Given the description of an element on the screen output the (x, y) to click on. 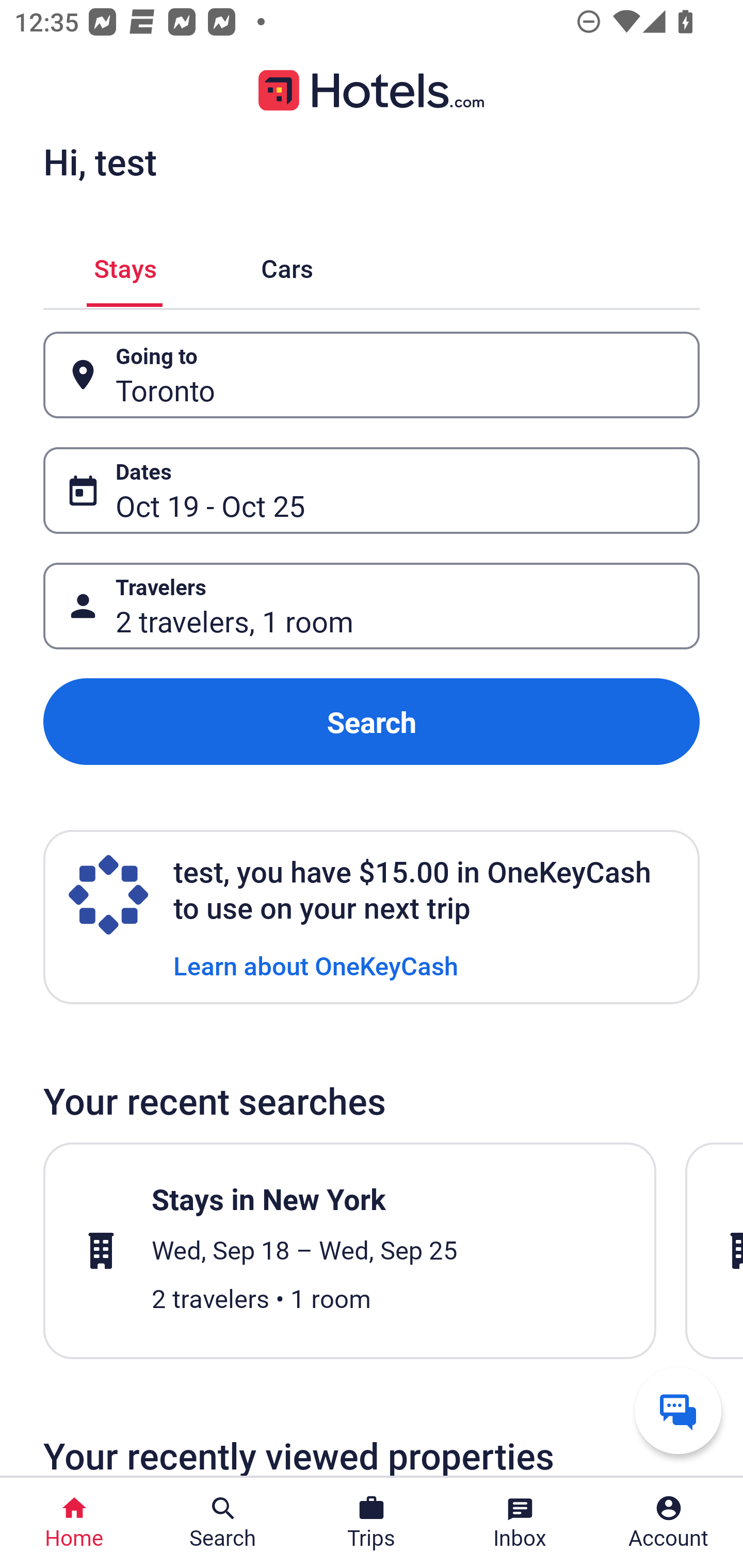
Hi, test (99, 161)
Cars (286, 265)
Going to Button Toronto (371, 375)
Dates Button Oct 19 - Oct 25 (371, 489)
Travelers Button 2 travelers, 1 room (371, 605)
Search (371, 721)
Learn about OneKeyCash Learn about OneKeyCash Link (315, 964)
Get help from a virtual agent (677, 1410)
Search Search Button (222, 1522)
Trips Trips Button (371, 1522)
Inbox Inbox Button (519, 1522)
Account Profile. Button (668, 1522)
